Given the description of an element on the screen output the (x, y) to click on. 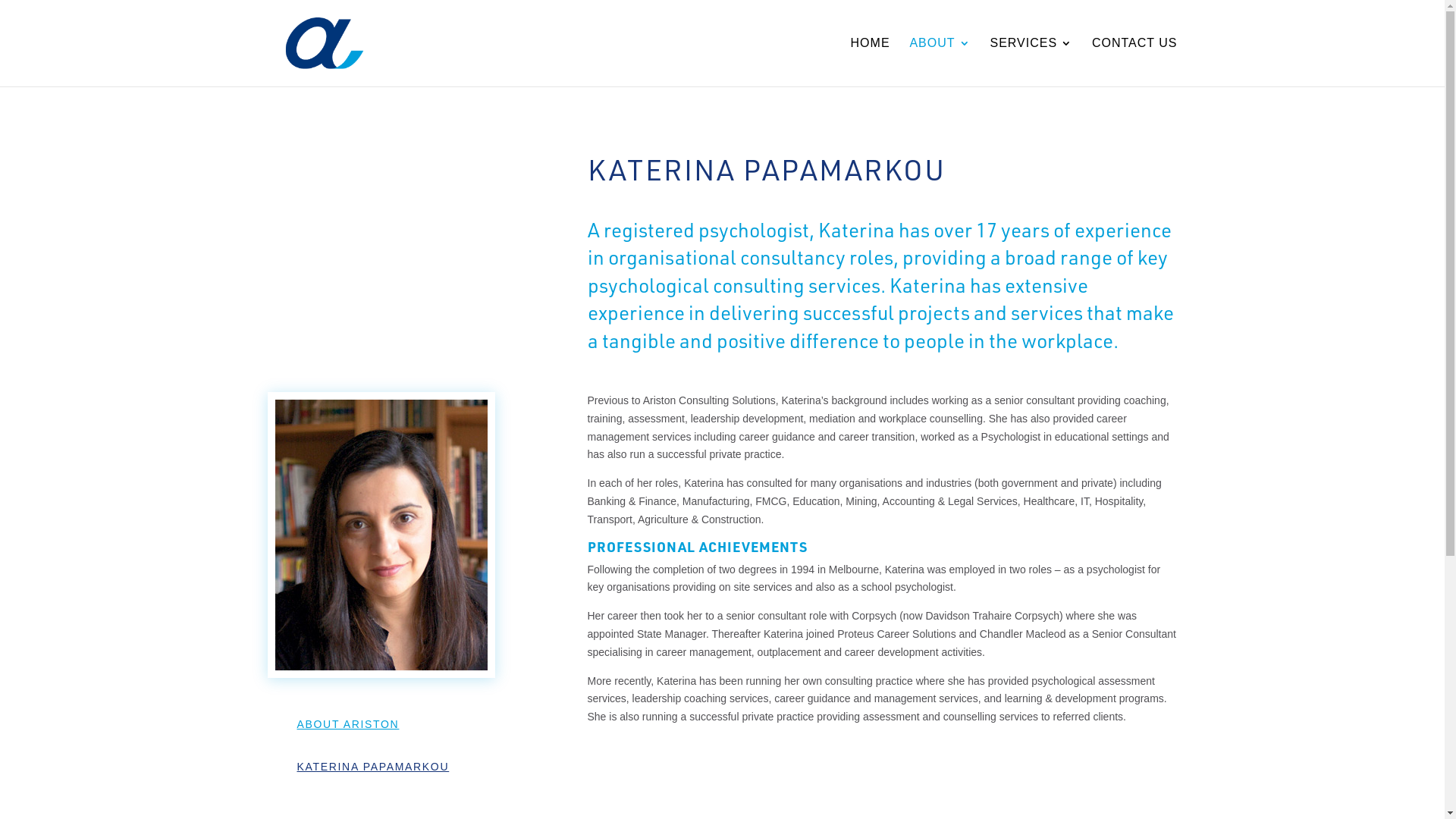
KATERINA PAPAMARKOU Element type: text (380, 766)
CONTACT US Element type: text (1134, 61)
ABOUT Element type: text (939, 61)
SERVICES Element type: text (1030, 61)
ABOUT ARISTON Element type: text (380, 723)
HOME Element type: text (870, 61)
